Given the description of an element on the screen output the (x, y) to click on. 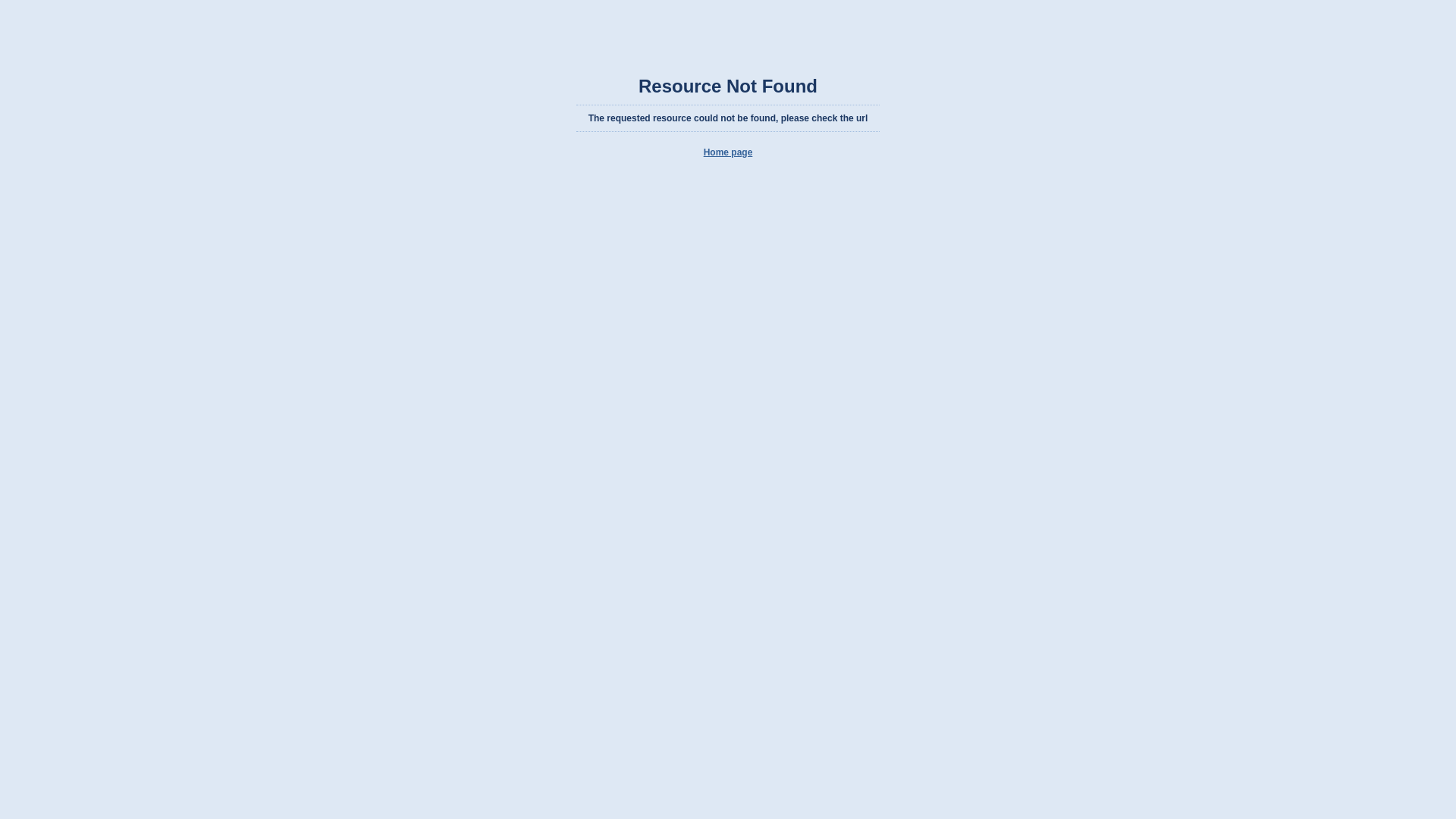
Home page Element type: text (728, 152)
